Given the description of an element on the screen output the (x, y) to click on. 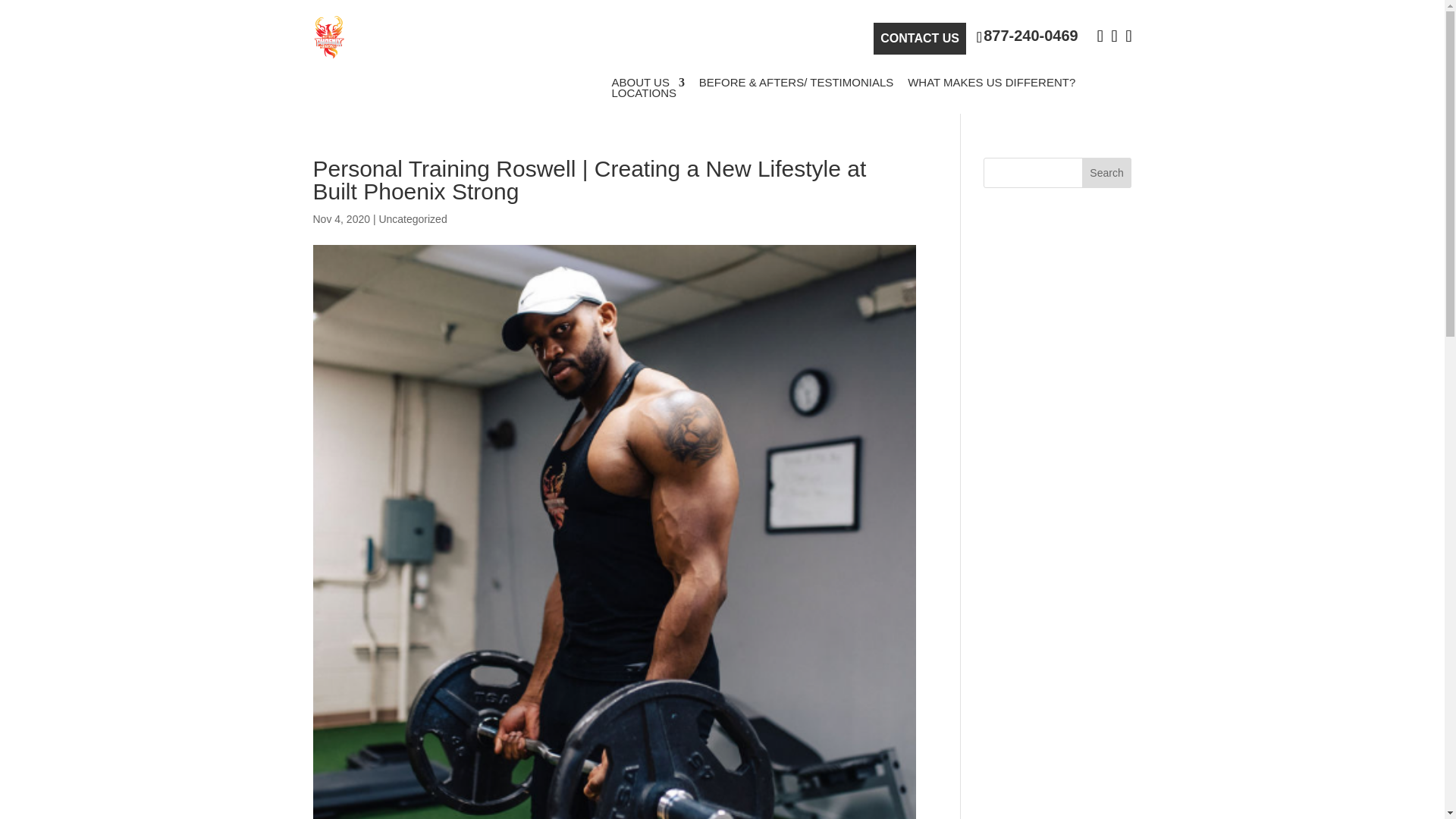
CONTACT US (919, 38)
Search (1106, 173)
LOCATIONS (644, 92)
WHAT MAKES US DIFFERENT? (991, 81)
877-240-0469 (1027, 36)
ABOUT US (647, 81)
Search (1106, 173)
